Given the description of an element on the screen output the (x, y) to click on. 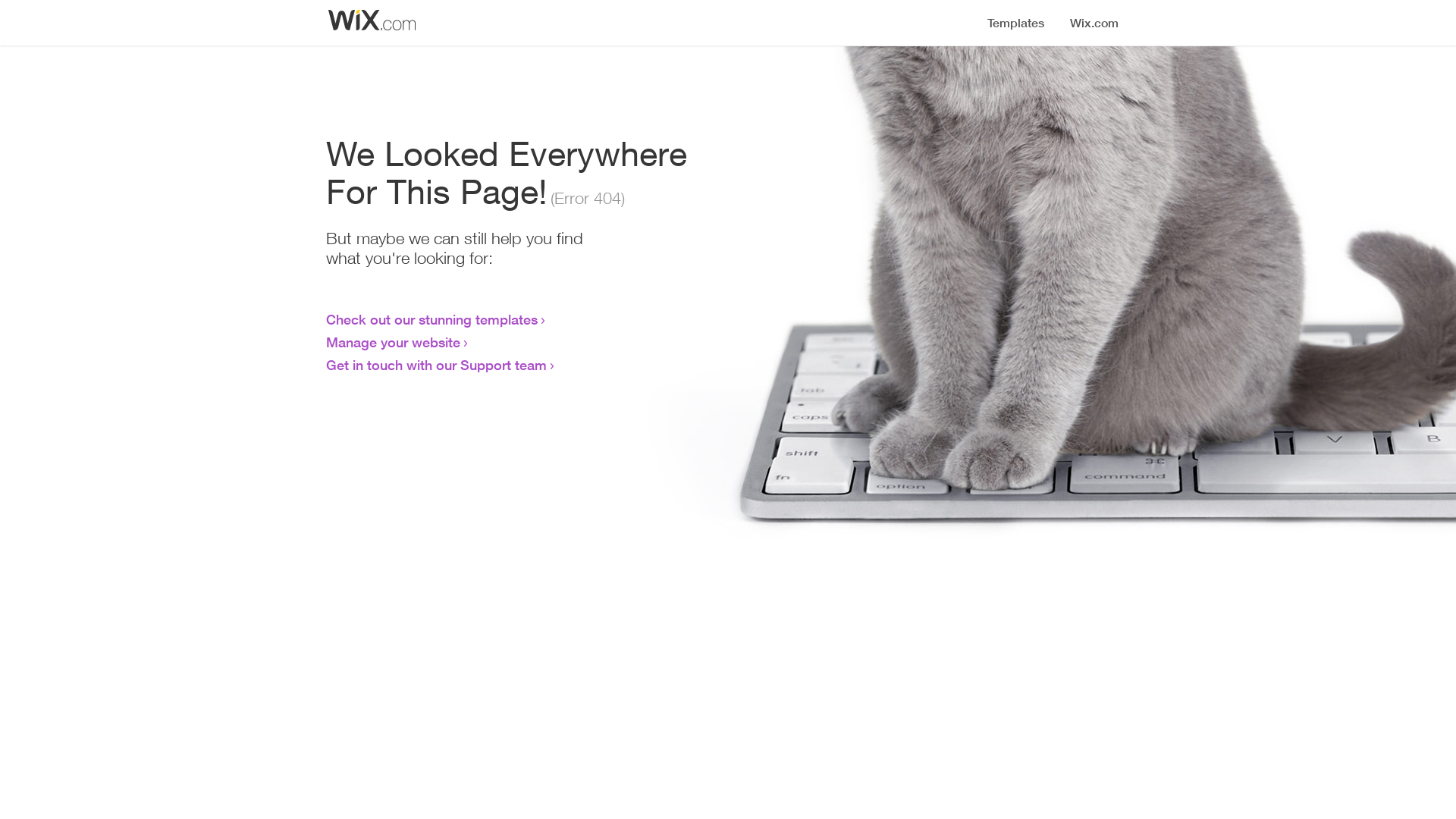
Get in touch with our Support team Element type: text (436, 364)
Manage your website Element type: text (393, 341)
Check out our stunning templates Element type: text (431, 318)
